Given the description of an element on the screen output the (x, y) to click on. 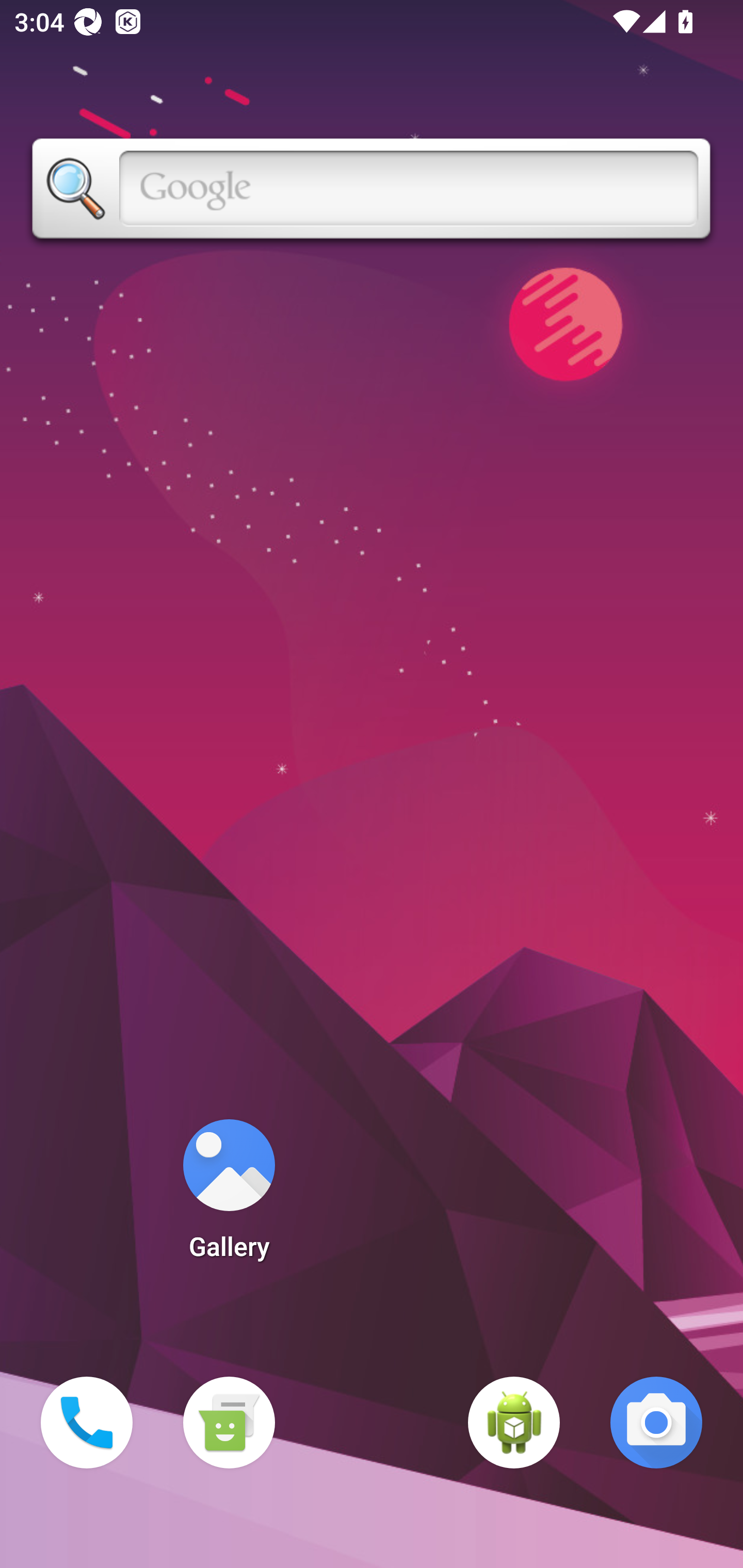
Gallery (228, 1195)
Phone (86, 1422)
Messaging (228, 1422)
WebView Browser Tester (513, 1422)
Camera (656, 1422)
